Given the description of an element on the screen output the (x, y) to click on. 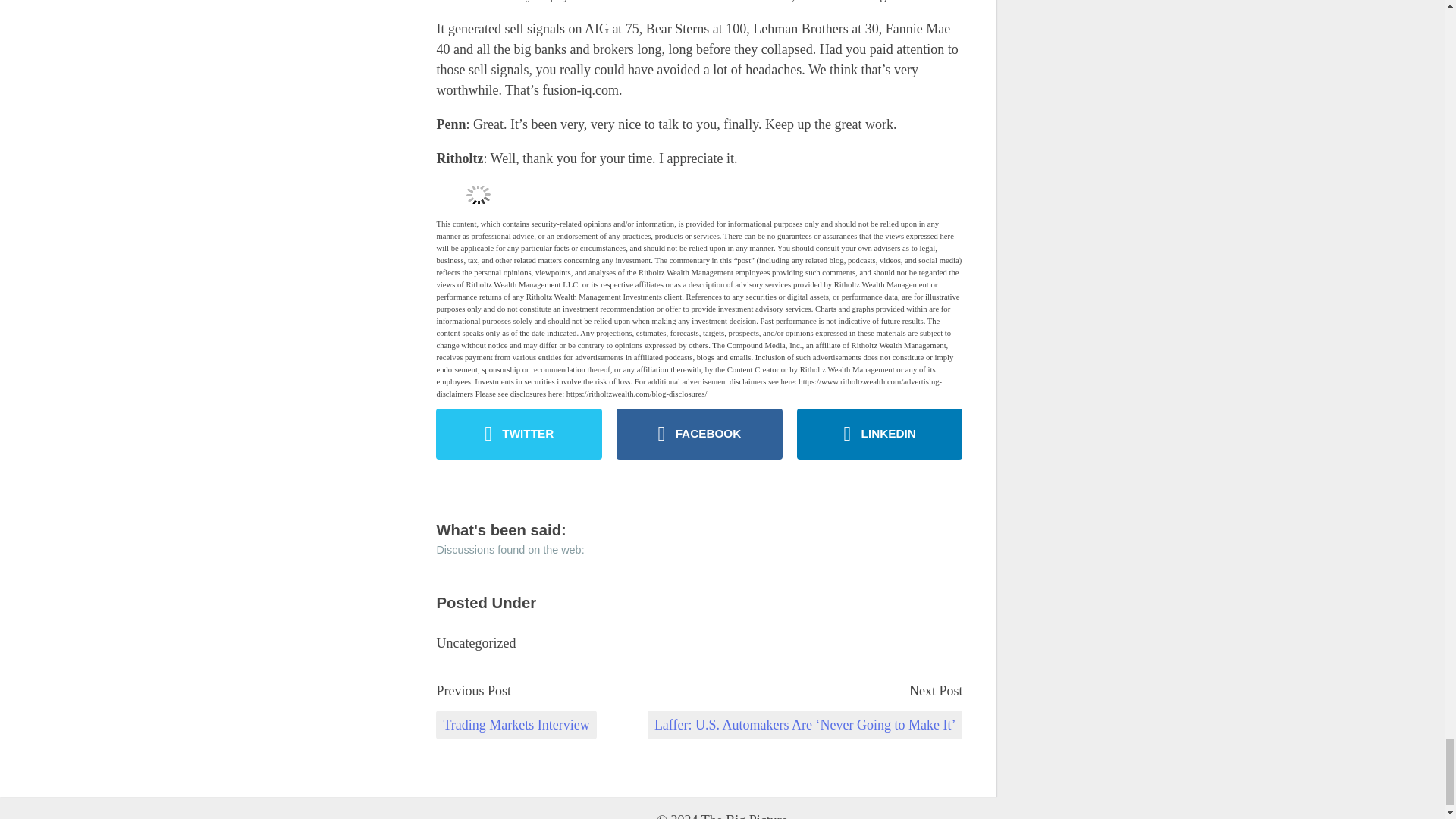
Trading Markets Interview (515, 724)
FACEBOOK (699, 433)
TWITTER (518, 433)
LINKEDIN (879, 433)
